Given the description of an element on the screen output the (x, y) to click on. 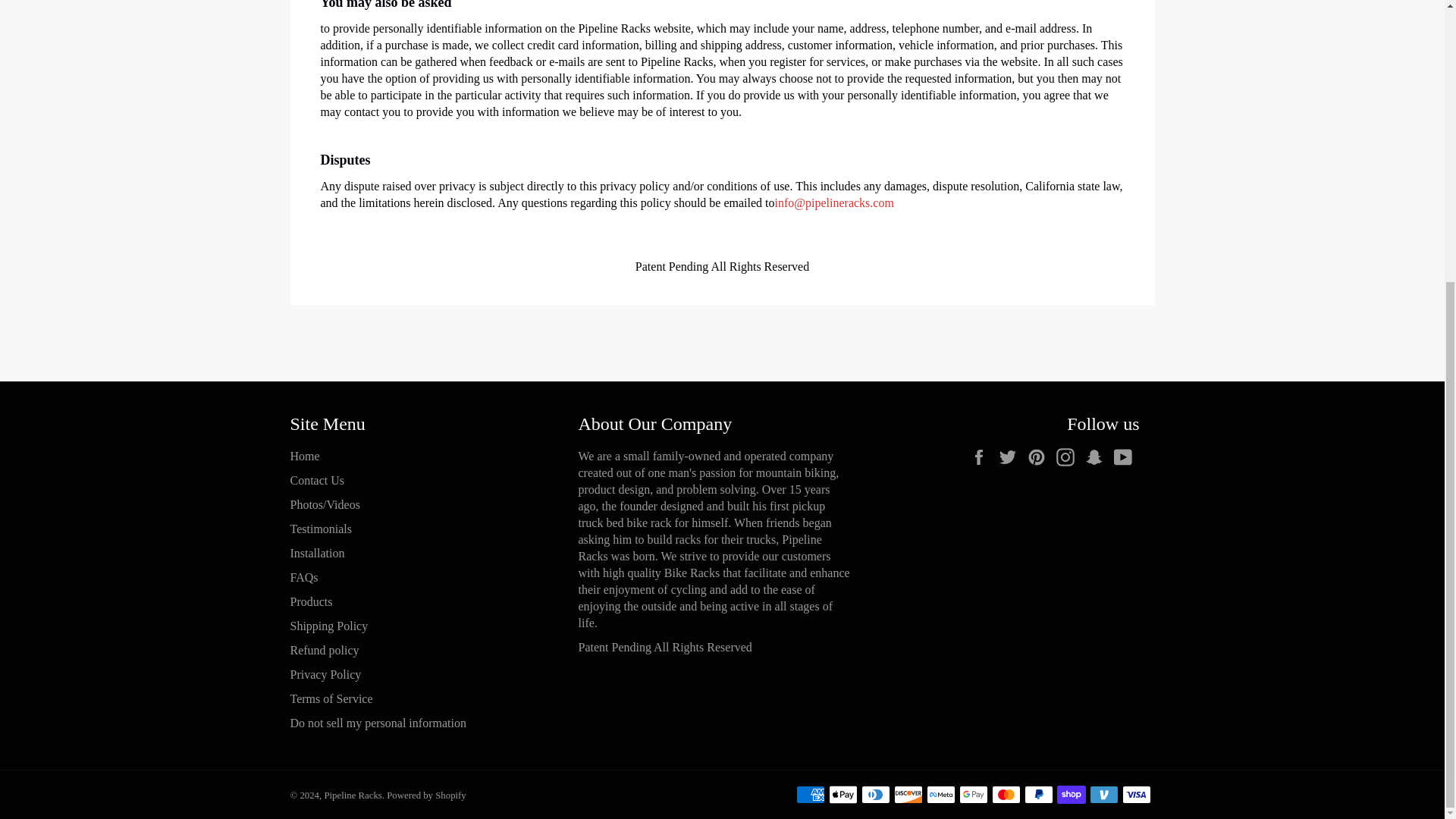
Pipeline Racks on Instagram (1068, 456)
Pipeline Racks on Twitter (1010, 456)
Pipeline Racks on Pinterest (1039, 456)
Pipeline Racks on YouTube (1125, 456)
Pipeline Racks on Snapchat (1096, 456)
Pipeline Racks on Facebook (981, 456)
